Given the description of an element on the screen output the (x, y) to click on. 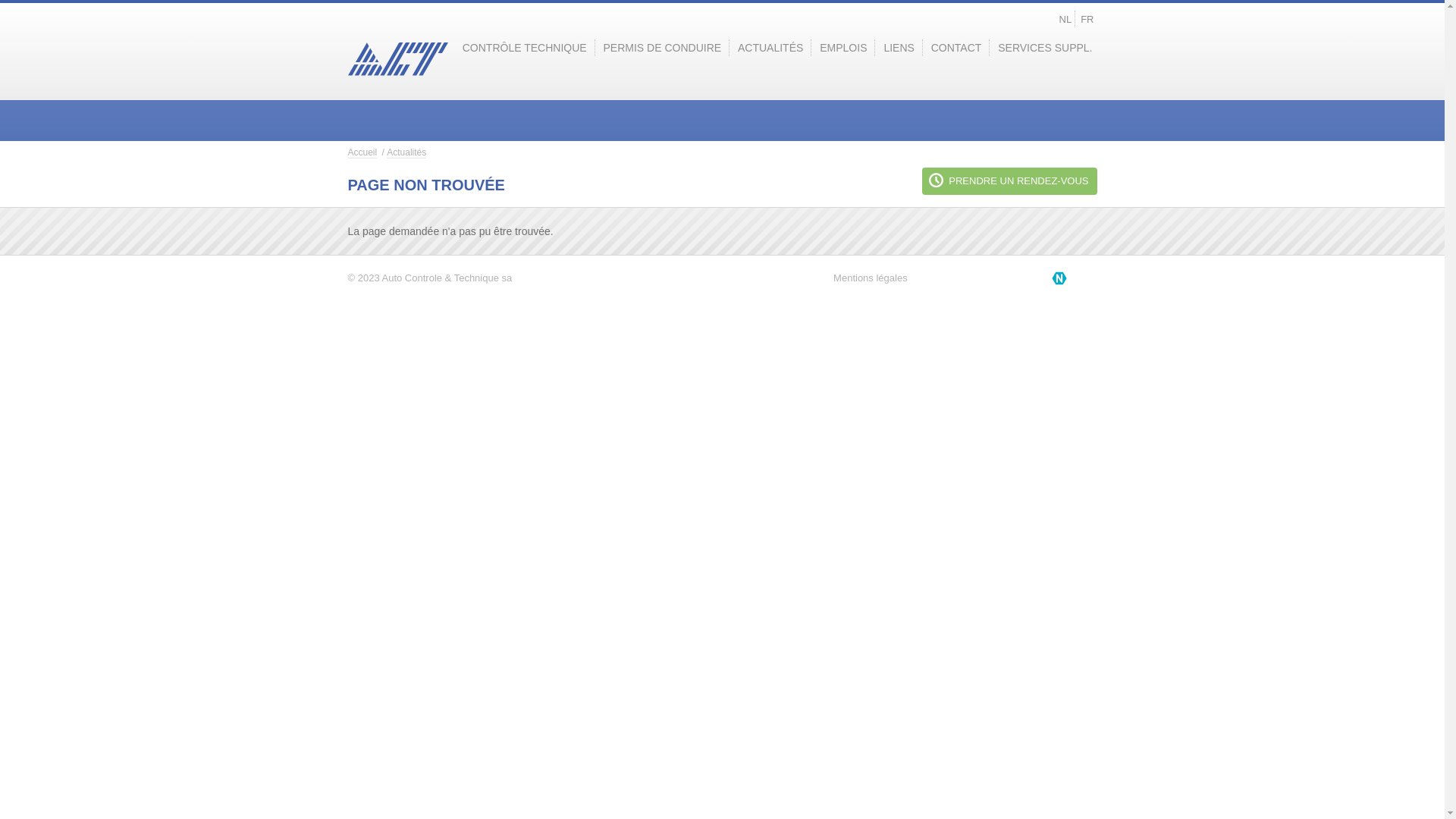
PERMIS DE CONDUIRE Element type: text (662, 47)
FR Element type: text (1086, 19)
PRENDRE UN RENDEZ-VOUS Element type: text (1009, 180)
LIENS Element type: text (898, 47)
Accueil Element type: hover (397, 61)
CONTACT Element type: text (956, 47)
Aller au contenu principal Element type: text (0, 0)
SERVICES SUPPL. Element type: text (1044, 47)
NL Element type: text (1065, 19)
EMPLOIS Element type: text (843, 47)
Accueil Element type: text (361, 152)
